Given the description of an element on the screen output the (x, y) to click on. 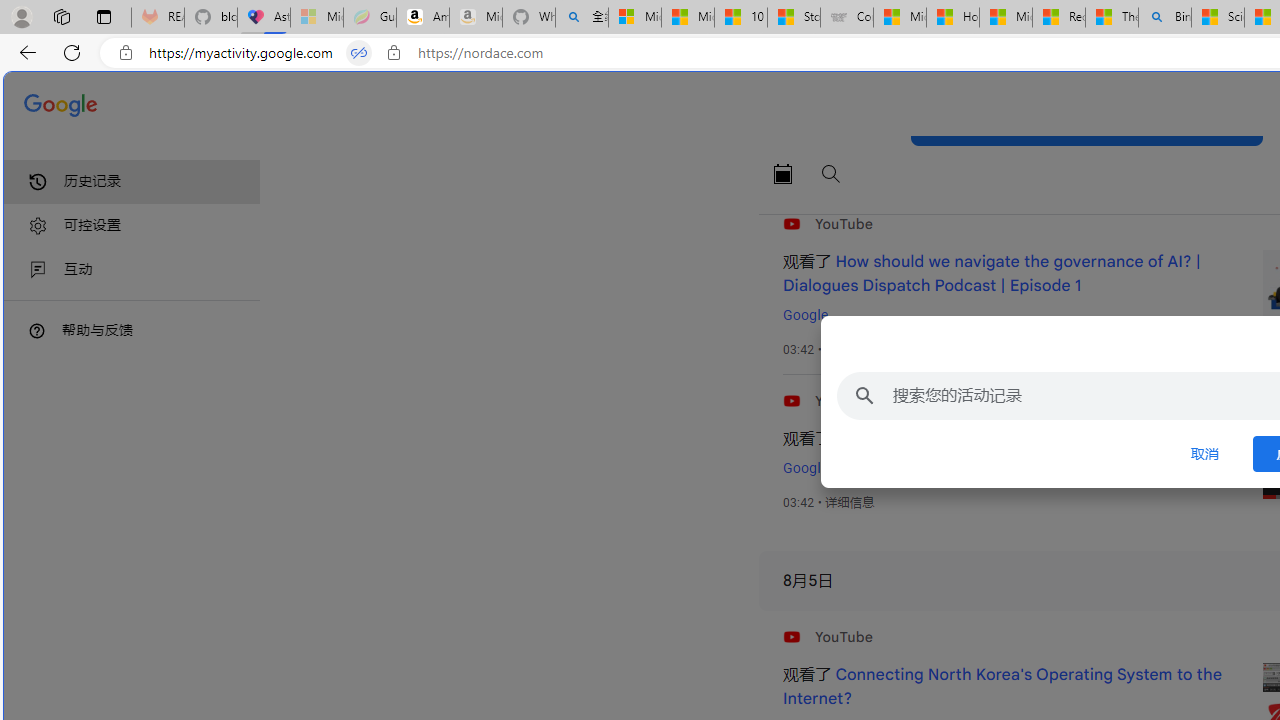
Connecting North Korea's Operating System to the Internet? (1002, 687)
